Given the description of an element on the screen output the (x, y) to click on. 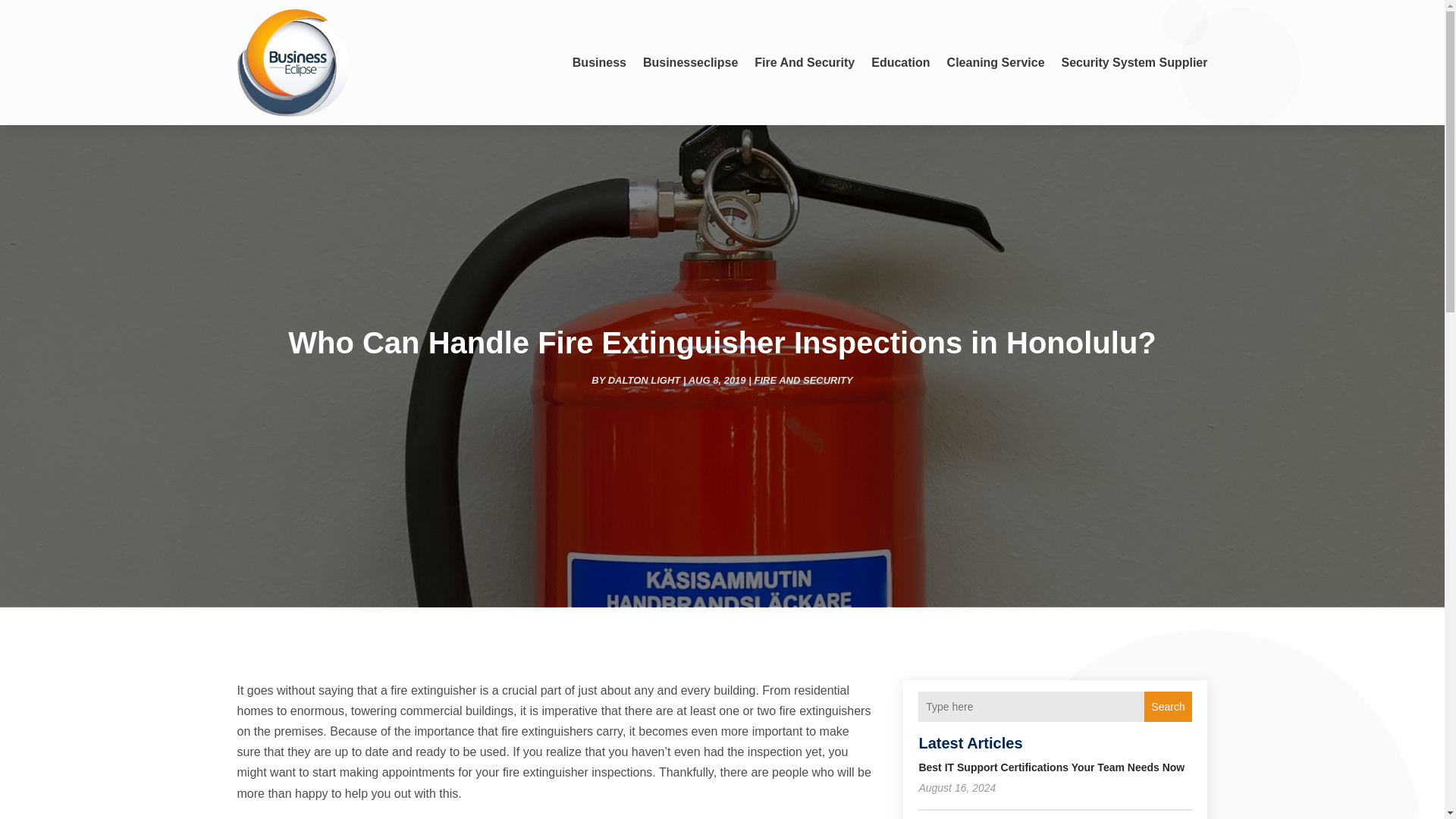
Best IT Support Certifications Your Team Needs Now (1051, 767)
Posts by DALTON LIGHT (644, 379)
FIRE AND SECURITY (802, 379)
Search (1168, 706)
DALTON LIGHT (644, 379)
Security System Supplier (1134, 62)
